Given the description of an element on the screen output the (x, y) to click on. 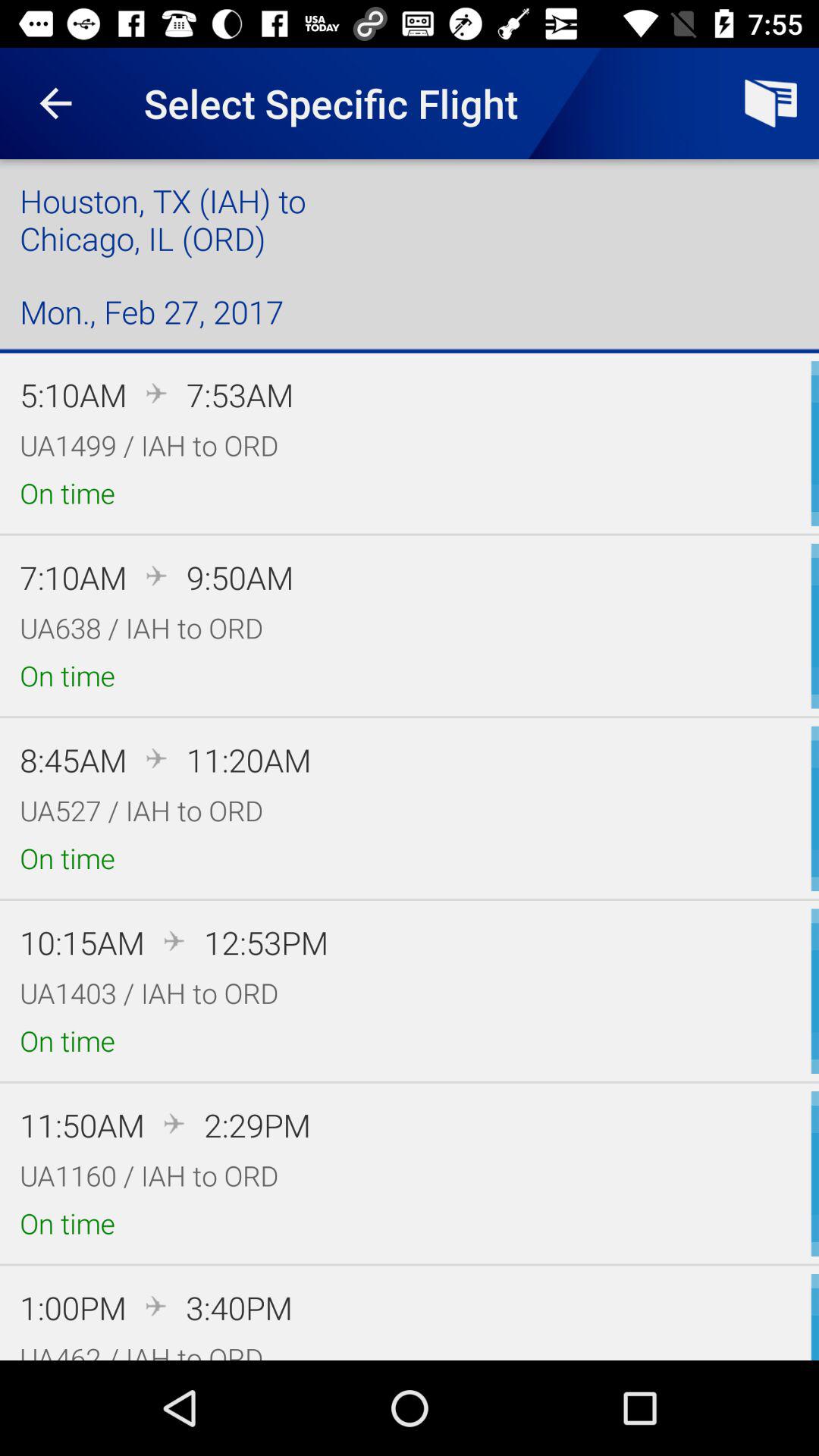
flip to 12:53pm (266, 942)
